Given the description of an element on the screen output the (x, y) to click on. 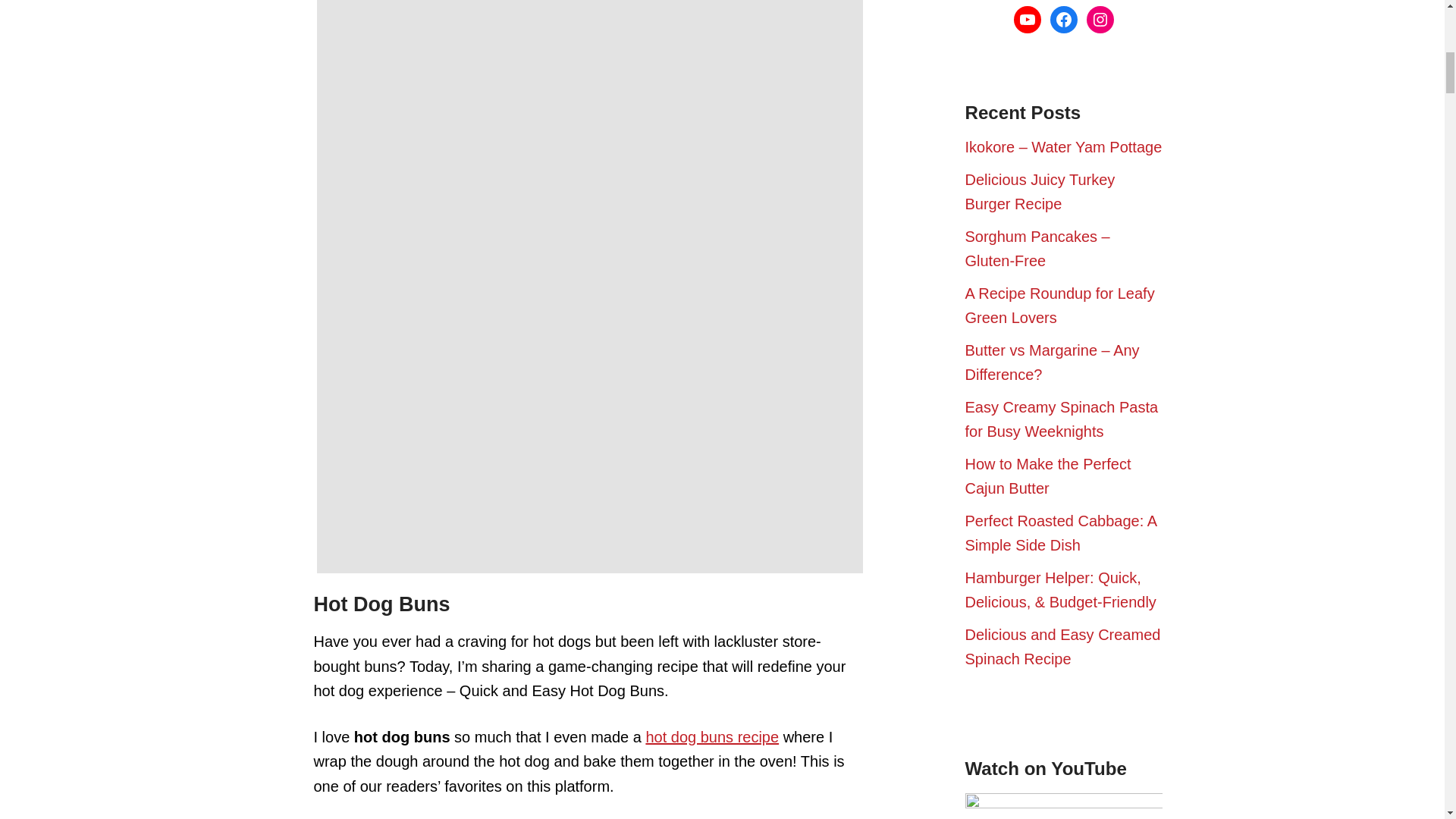
hot dog buns recipe (711, 736)
